Given the description of an element on the screen output the (x, y) to click on. 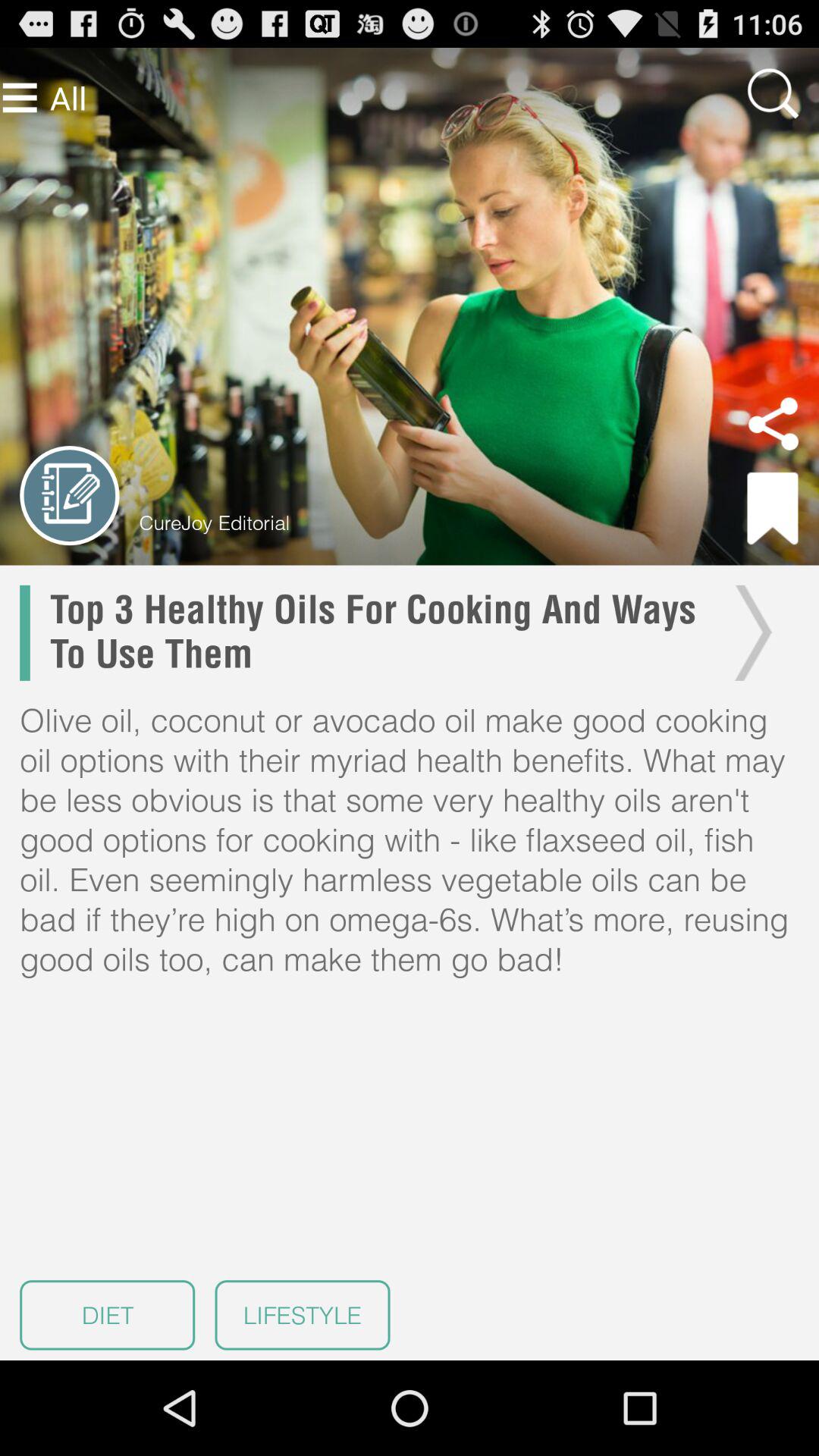
select share (773, 423)
